Given the description of an element on the screen output the (x, y) to click on. 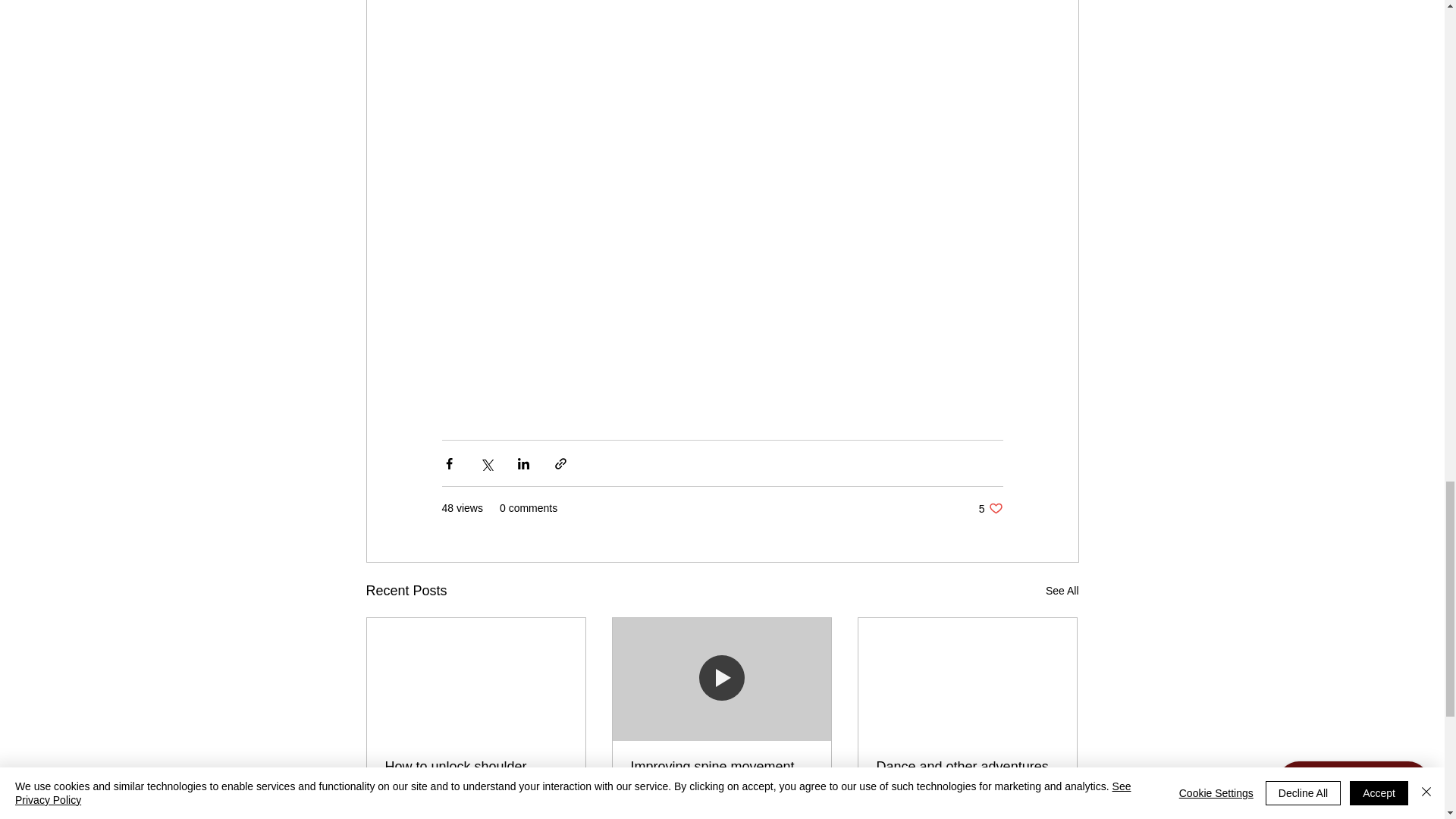
Improving spine movement and mobility with The Sea Squirt (990, 508)
See All (721, 775)
How to unlock shoulder mobility using the Gymnastic Rings (1061, 590)
